Given the description of an element on the screen output the (x, y) to click on. 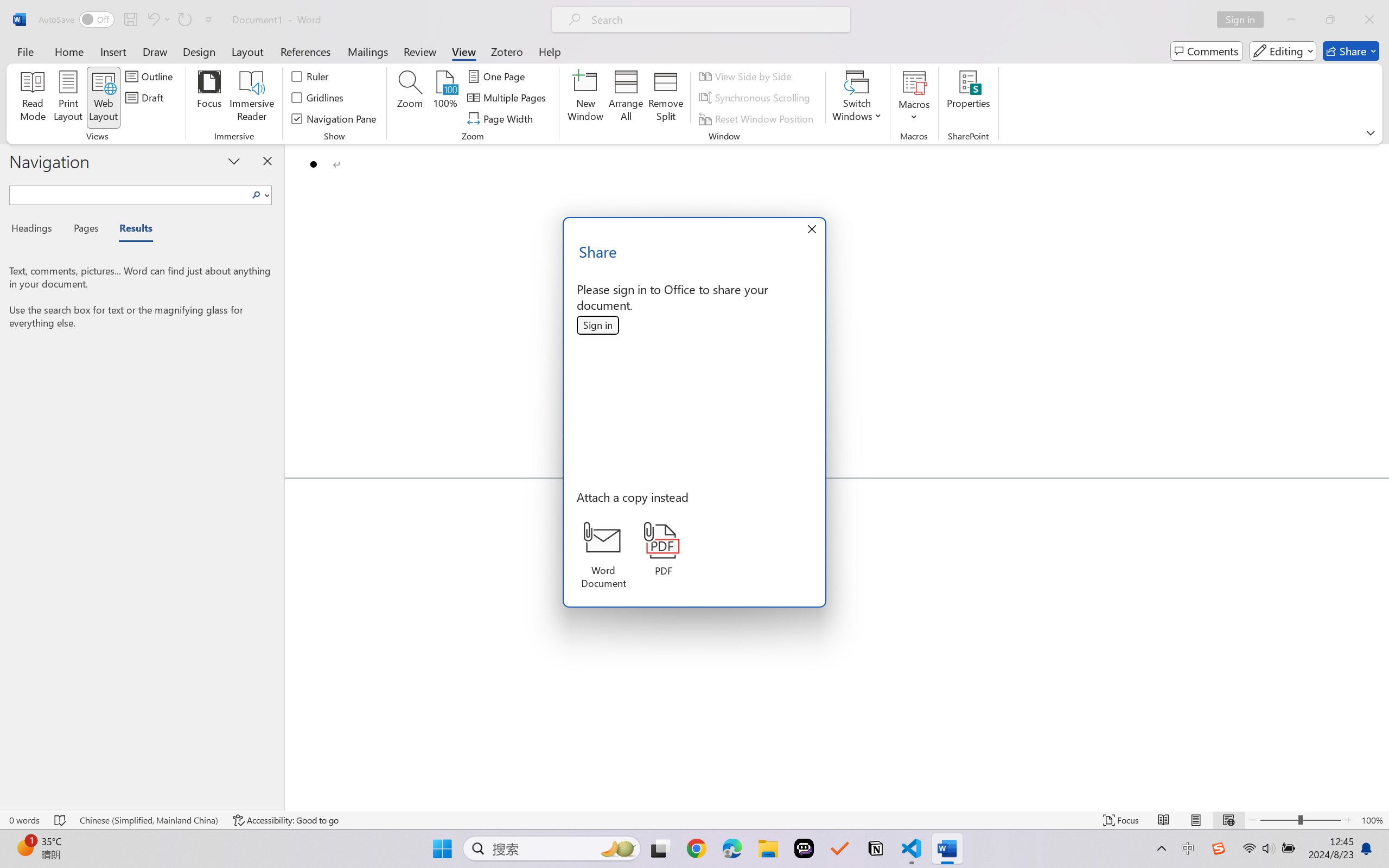
Headings (35, 229)
Undo Bullet Default (158, 19)
View Macros (914, 81)
View Side by Side (746, 75)
Synchronous Scrolling (755, 97)
